Given the description of an element on the screen output the (x, y) to click on. 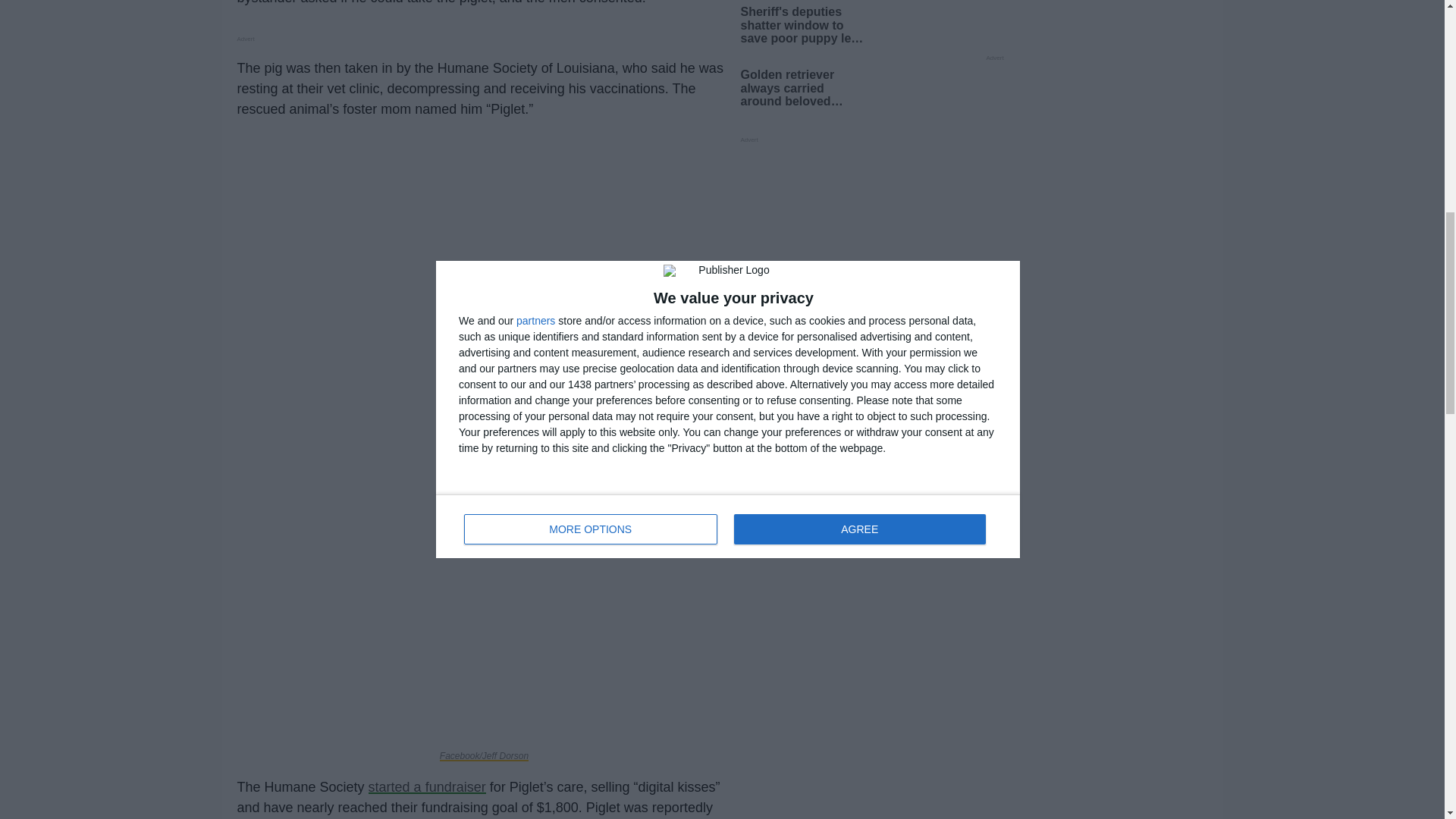
started a fundraiser (427, 786)
